Given the description of an element on the screen output the (x, y) to click on. 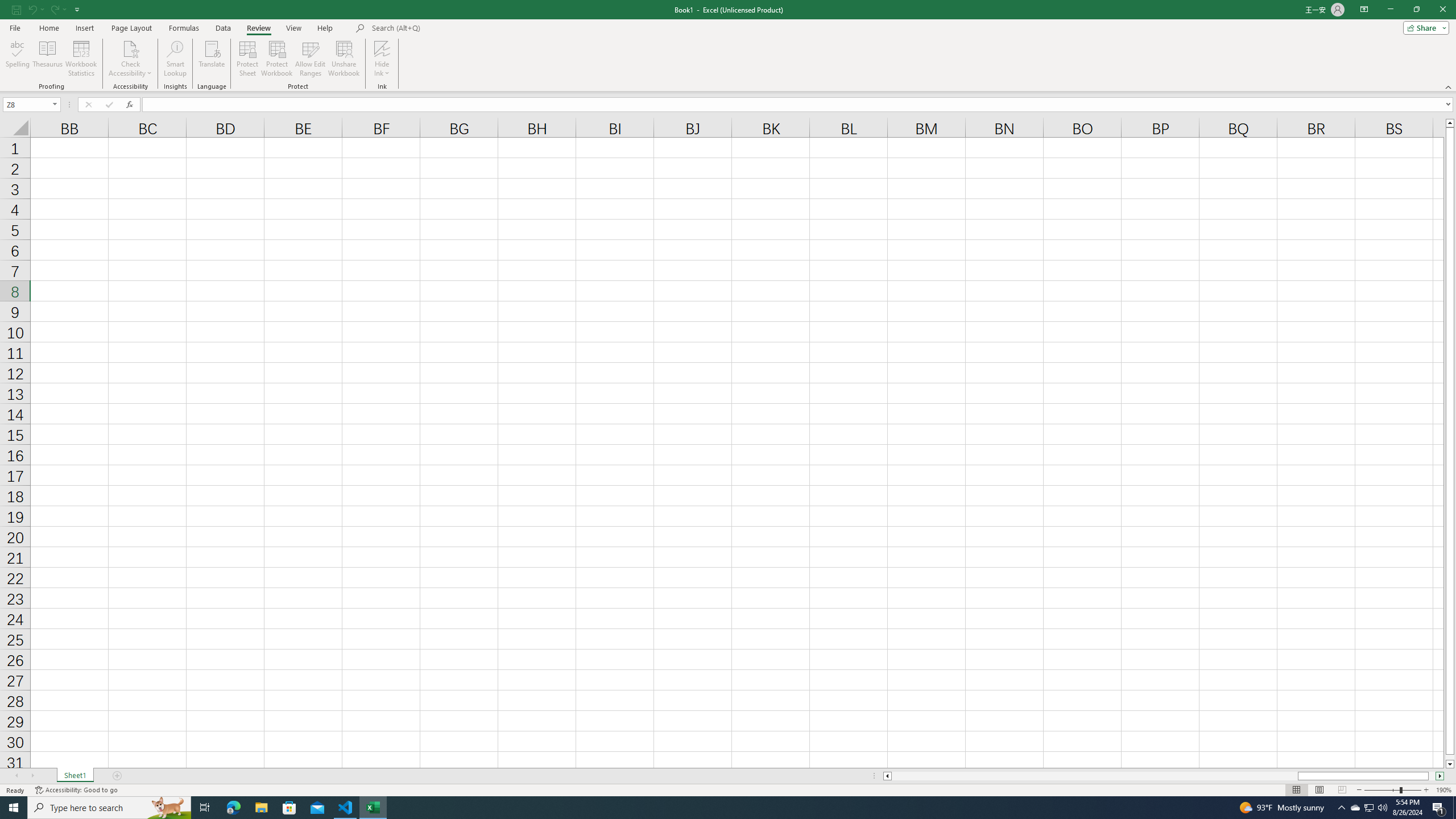
Check Accessibility (129, 58)
Thesaurus... (47, 58)
Workbook Statistics (81, 58)
Spelling... (17, 58)
Protect Workbook... (277, 58)
Protect Sheet... (247, 58)
